Given the description of an element on the screen output the (x, y) to click on. 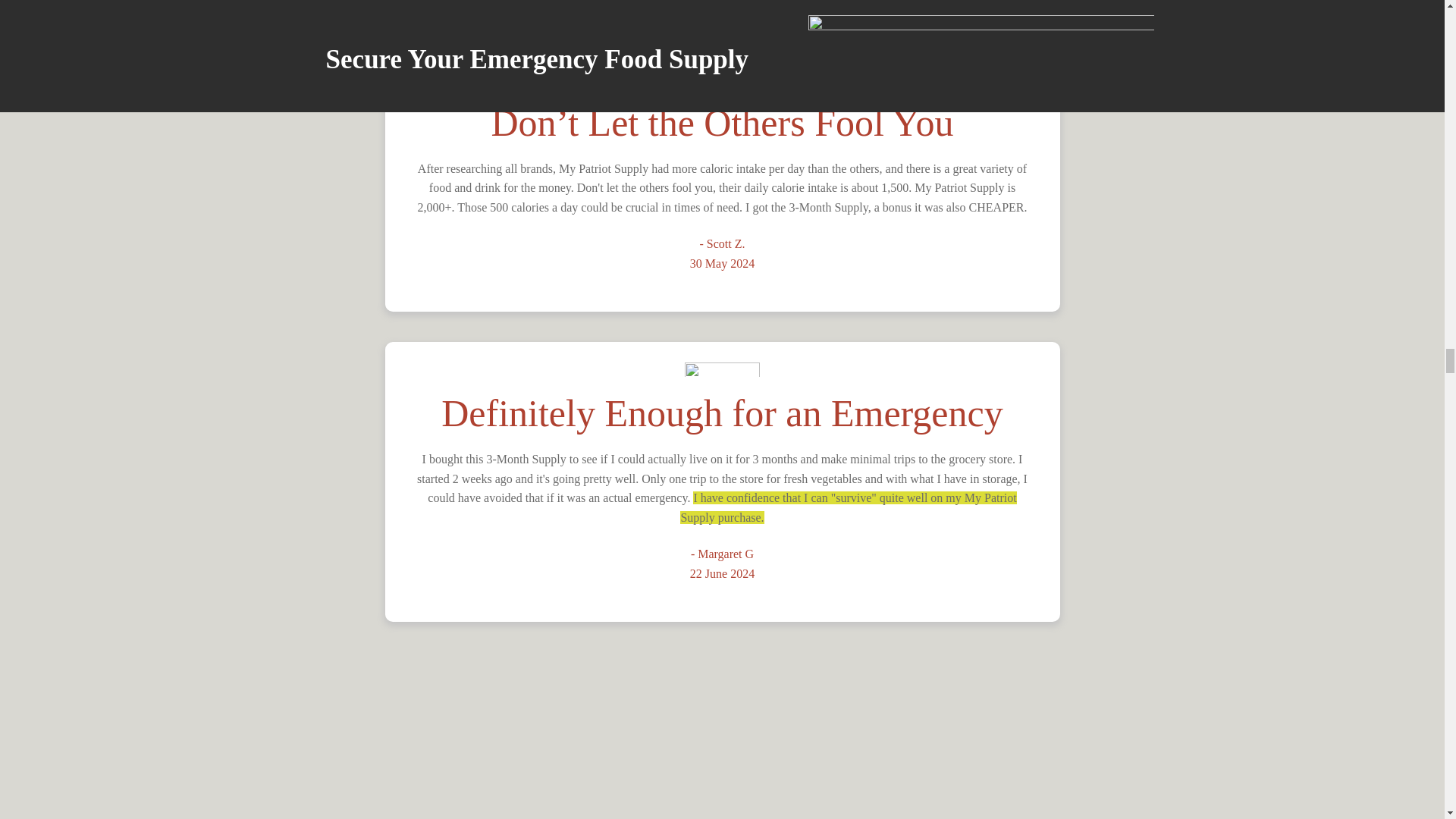
Video Player (721, 743)
